Given the description of an element on the screen output the (x, y) to click on. 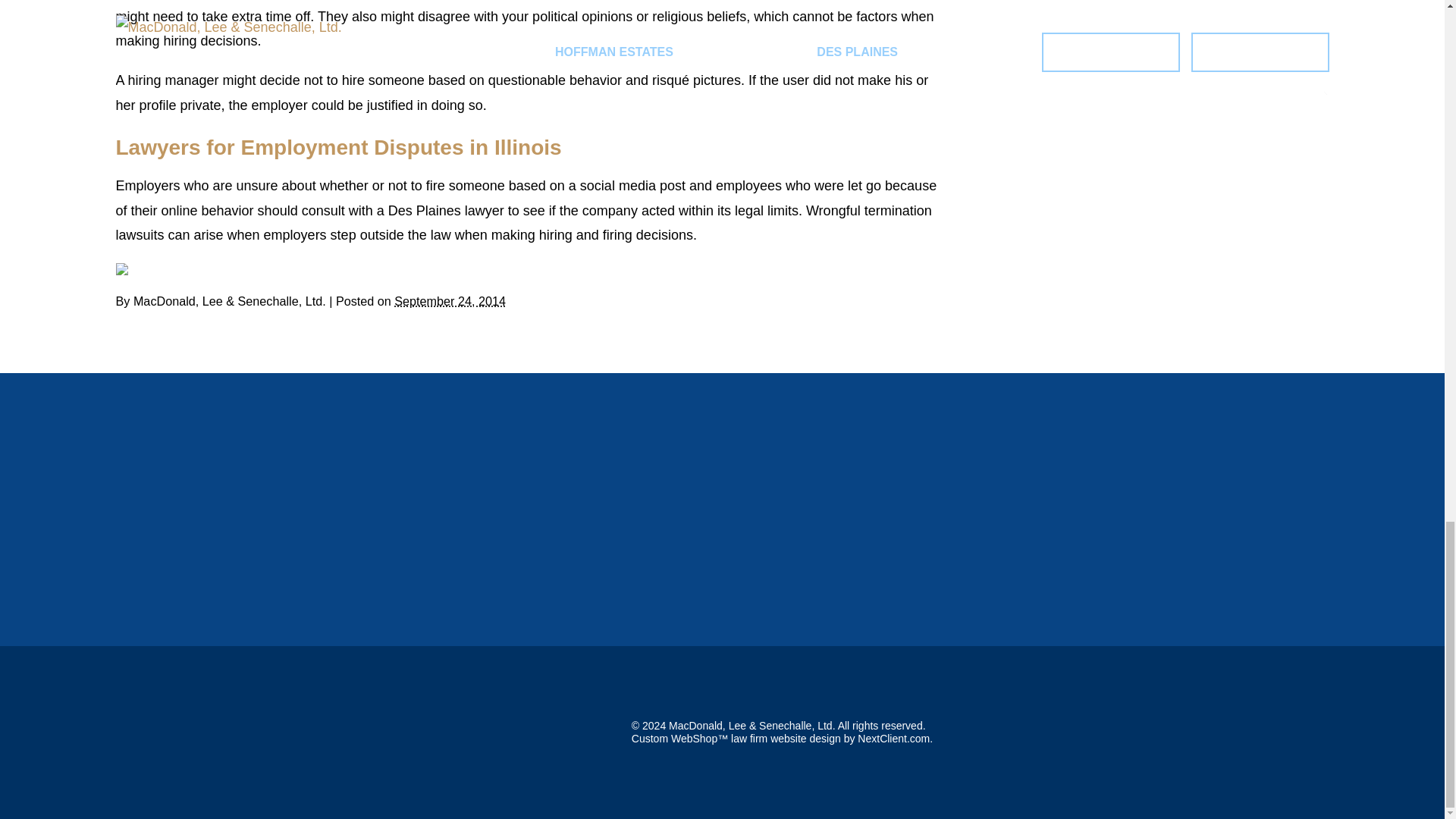
2014-09-24T09:57:00-0700 (449, 300)
Twitter (131, 268)
LinkedIn (142, 268)
Facebook (121, 268)
